Given the description of an element on the screen output the (x, y) to click on. 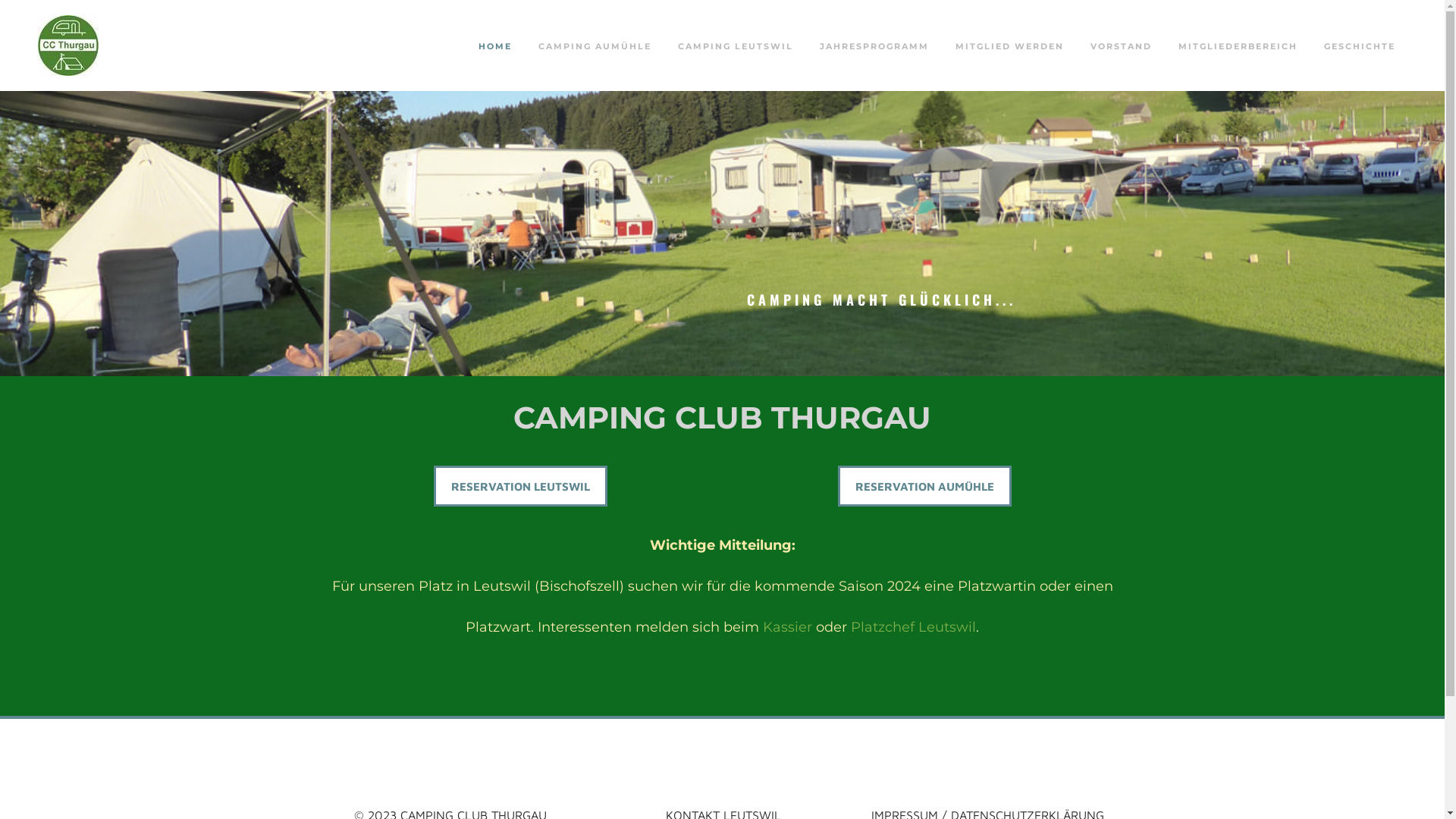
MITGLIEDERBEREICH Element type: text (1237, 45)
VORSTAND Element type: text (1120, 45)
HOME Element type: text (494, 45)
CAMPING LEUTSWIL Element type: text (735, 45)
MITGLIED WERDEN Element type: text (1009, 45)
JAHRESPROGRAMM Element type: text (873, 45)
GESCHICHTE Element type: text (1359, 45)
Platzchef Leutswil Element type: text (912, 626)
RESERVATION LEUTSWIL Element type: text (520, 485)
Kassier Element type: text (787, 626)
